Given the description of an element on the screen output the (x, y) to click on. 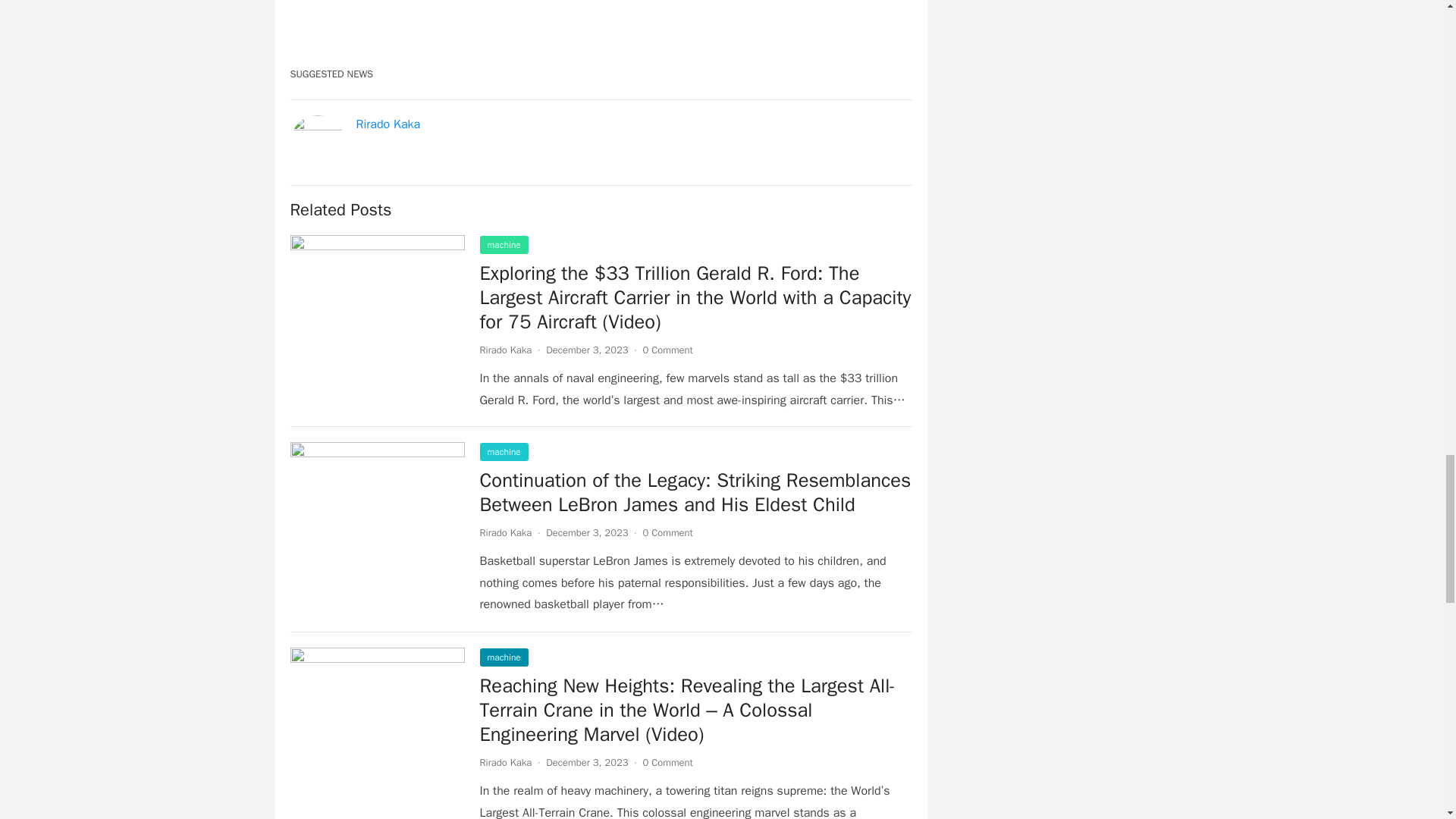
Rirado Kaka (388, 124)
Rirado Kaka (505, 532)
machine (503, 657)
Posts by Rirado Kaka (505, 349)
0 Comment (667, 762)
Rirado Kaka (505, 762)
machine (503, 244)
machine (503, 452)
Posts by Rirado Kaka (505, 532)
